Given the description of an element on the screen output the (x, y) to click on. 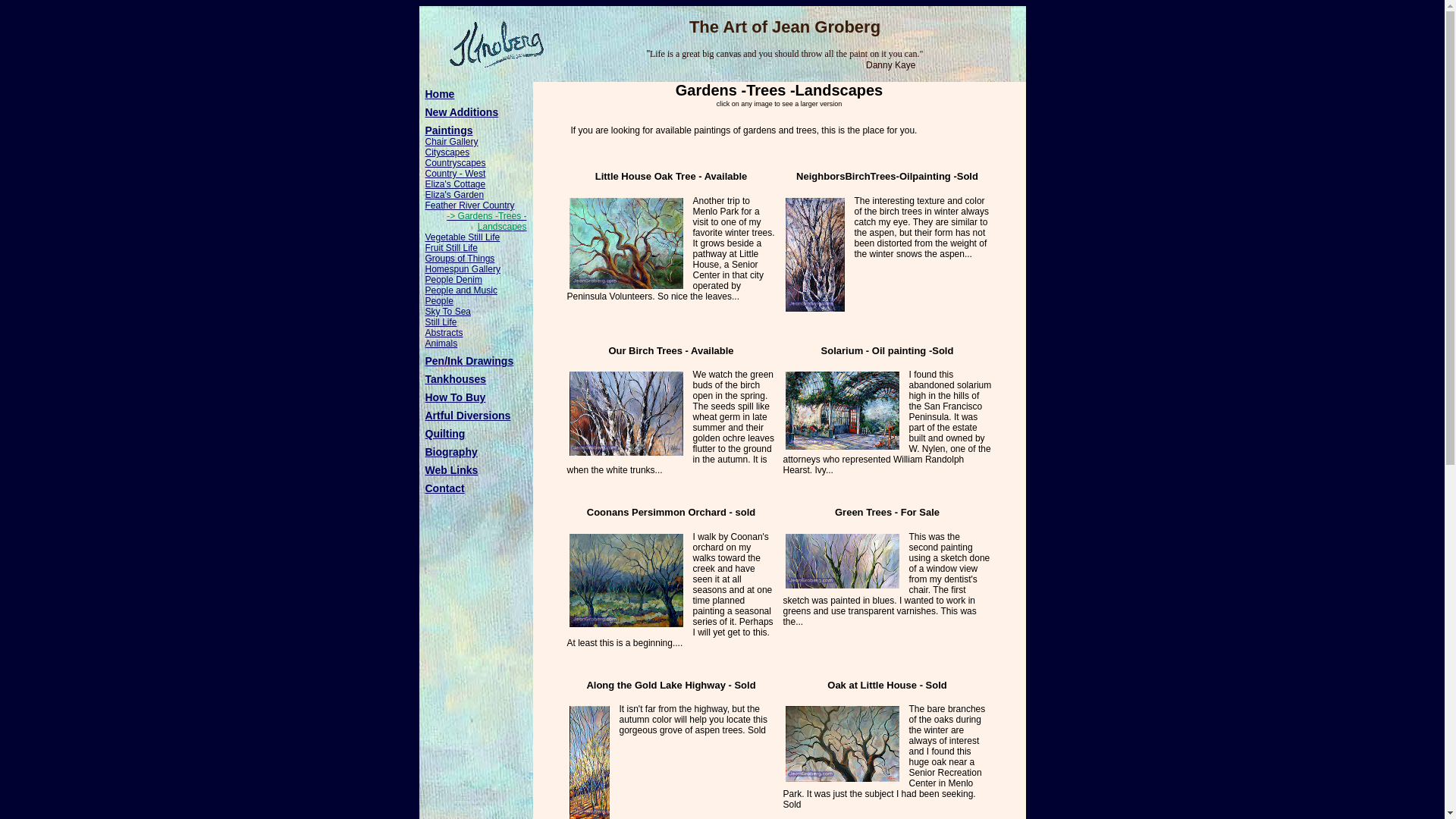
Web Links (475, 469)
Eliza's Garden (475, 194)
Tankhouses (475, 378)
People (475, 300)
How To Buy (475, 397)
Abstracts (475, 332)
Contact (475, 488)
Eliza's Cottage (475, 184)
Still Life (475, 321)
People Denim (475, 279)
Quilting (475, 433)
Groups of Things (475, 258)
Cityscapes (475, 152)
Biography (475, 451)
Homespun Gallery (475, 268)
